Given the description of an element on the screen output the (x, y) to click on. 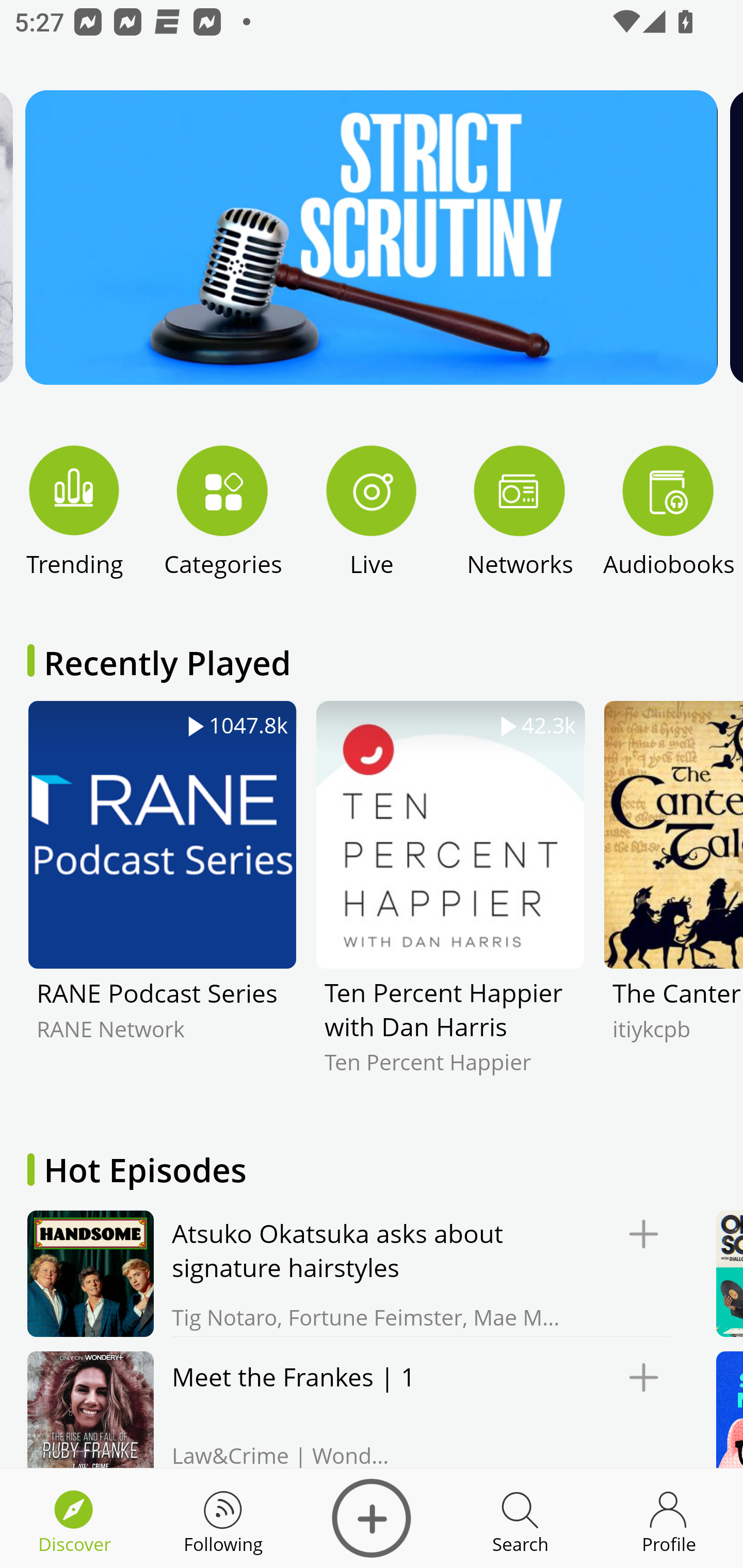
1047.8k RANE Podcast Series RANE Network (162, 902)
The Canterbury Tales itiykcpb (673, 902)
Meet the Frankes | 1 Law&Crime | Wondery (344, 1409)
Discover Following (222, 1518)
Discover (371, 1518)
Discover Search (519, 1518)
Discover Profile (668, 1518)
